Given the description of an element on the screen output the (x, y) to click on. 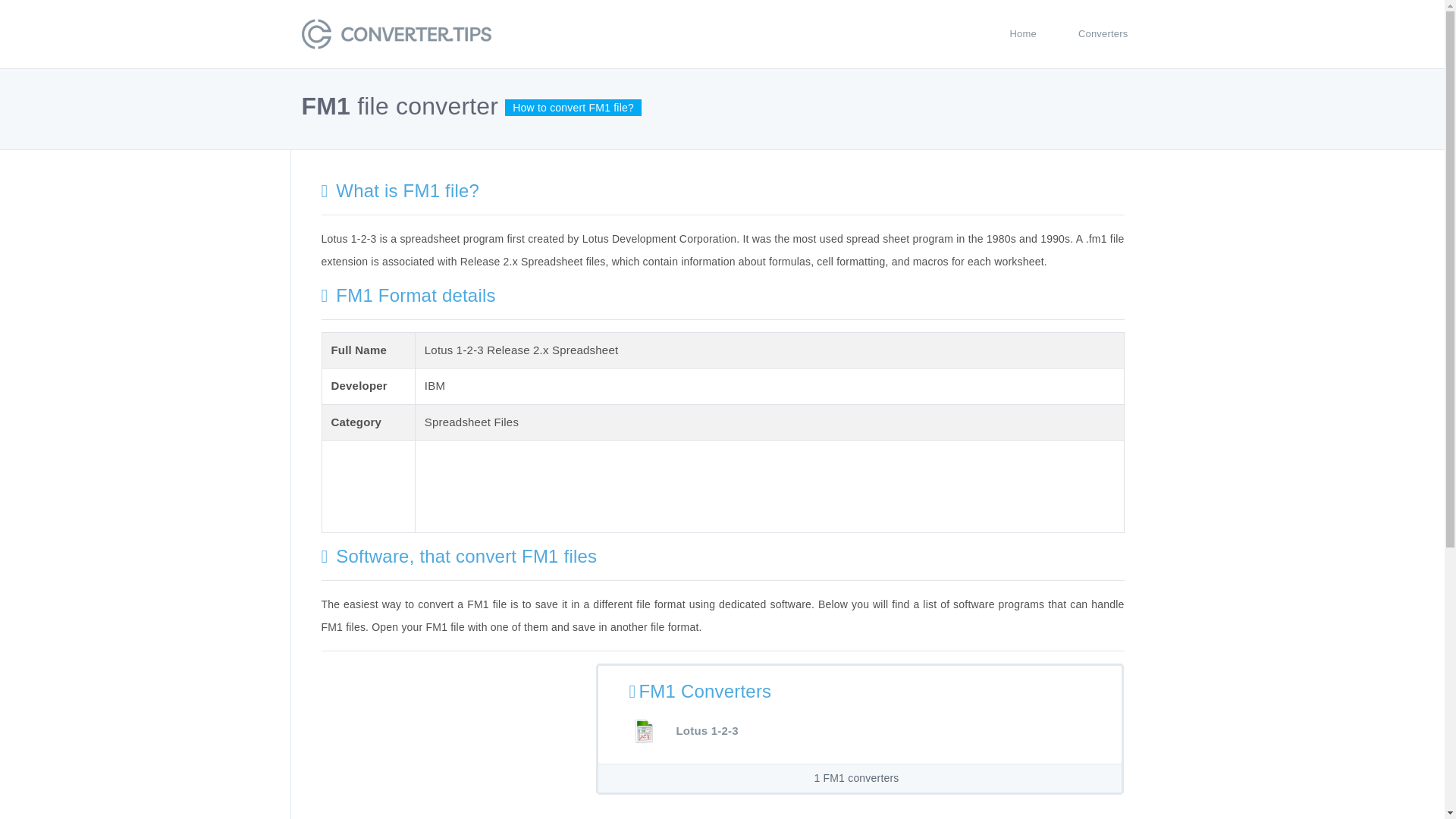
Converters (1102, 33)
Advertisement (448, 741)
Home (1022, 33)
Advertisement (700, 483)
